Given the description of an element on the screen output the (x, y) to click on. 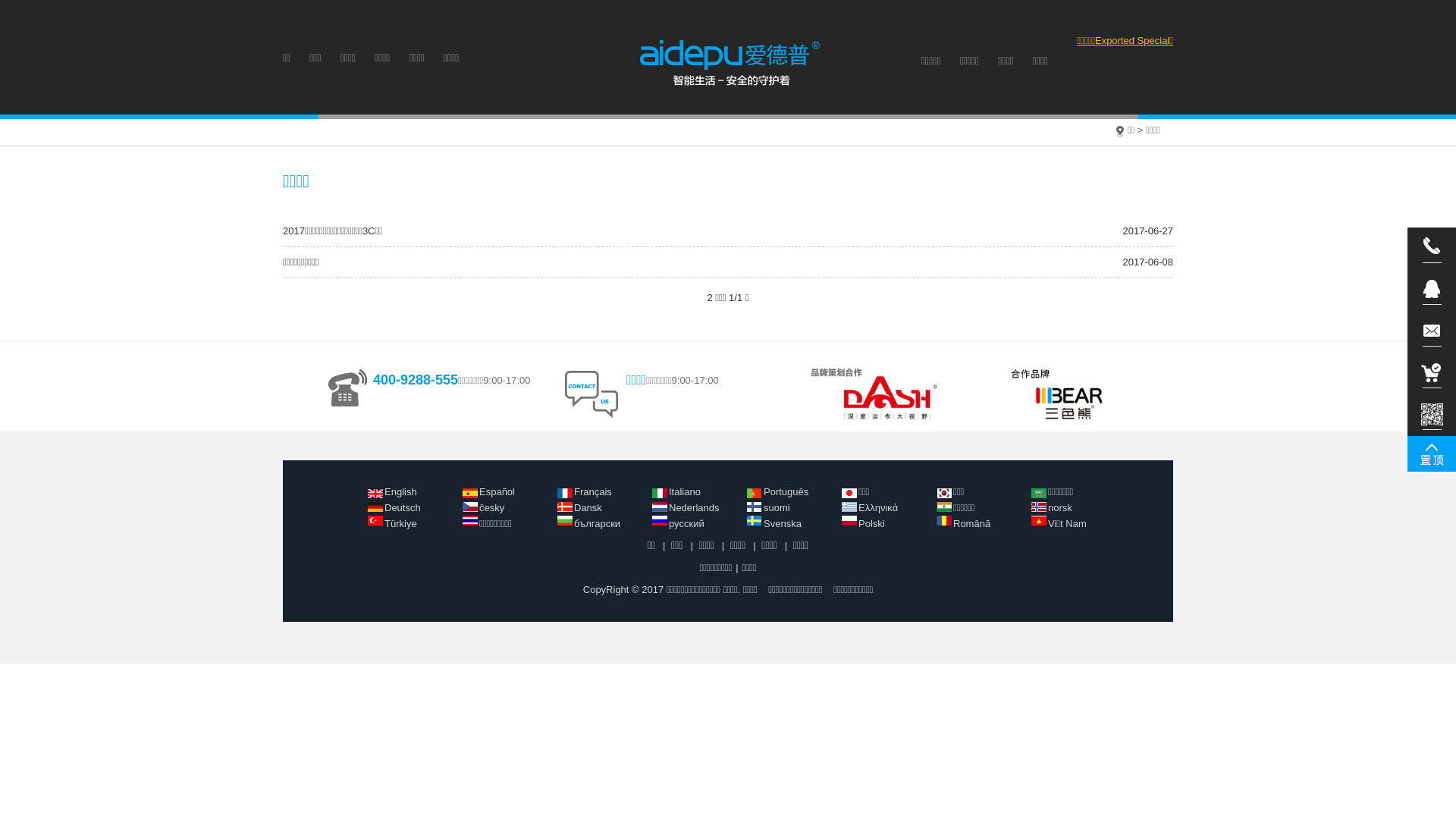
Polski Element type: text (871, 523)
suomi Element type: text (776, 507)
Deutsch Element type: text (402, 507)
Dansk Element type: text (588, 507)
Italiano Element type: text (684, 491)
English Element type: text (400, 491)
norsk Element type: text (1060, 507)
Svenska Element type: text (782, 523)
Nederlands Element type: text (693, 507)
